Given the description of an element on the screen output the (x, y) to click on. 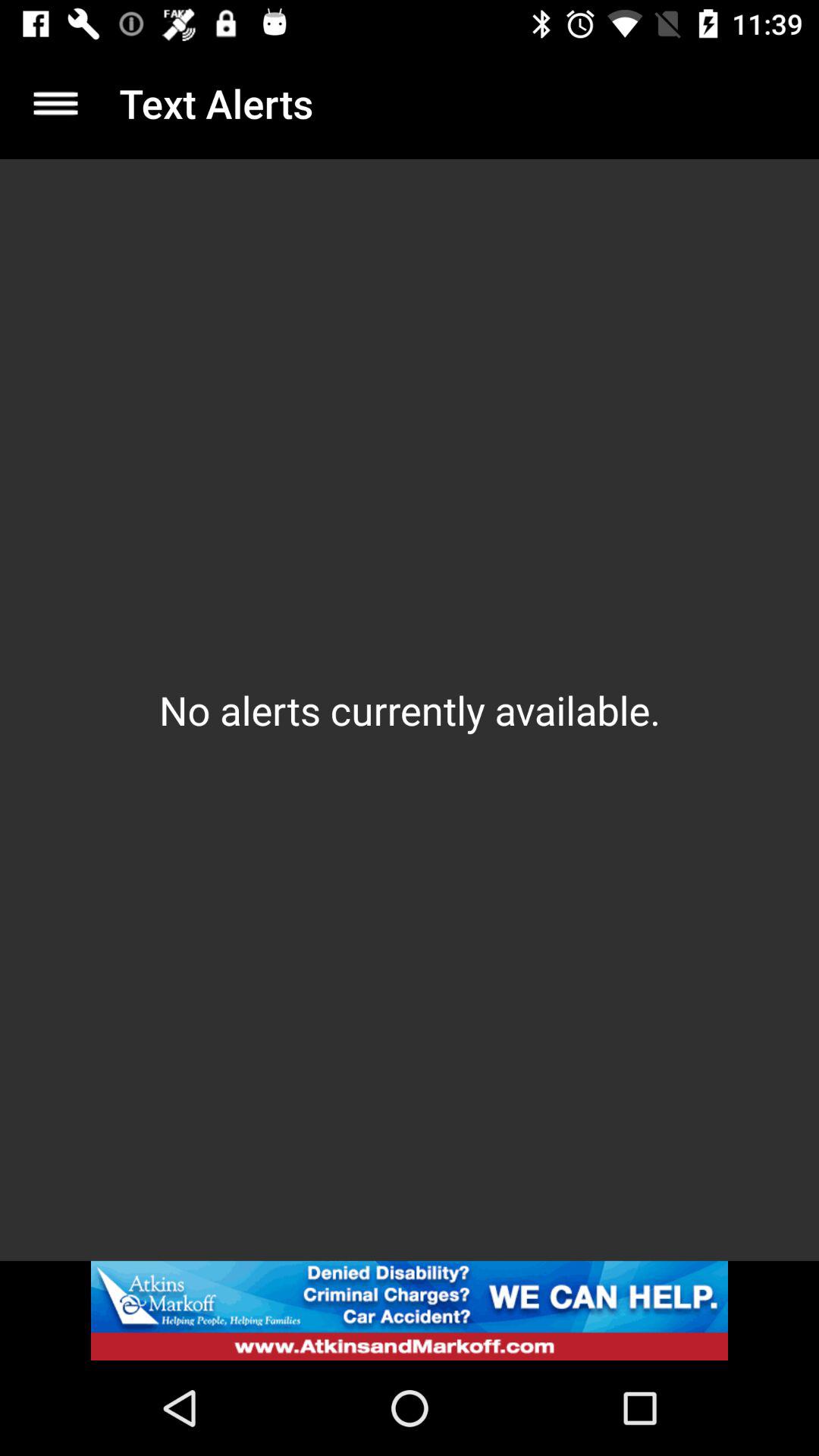
go to the advertisement (409, 1310)
